Given the description of an element on the screen output the (x, y) to click on. 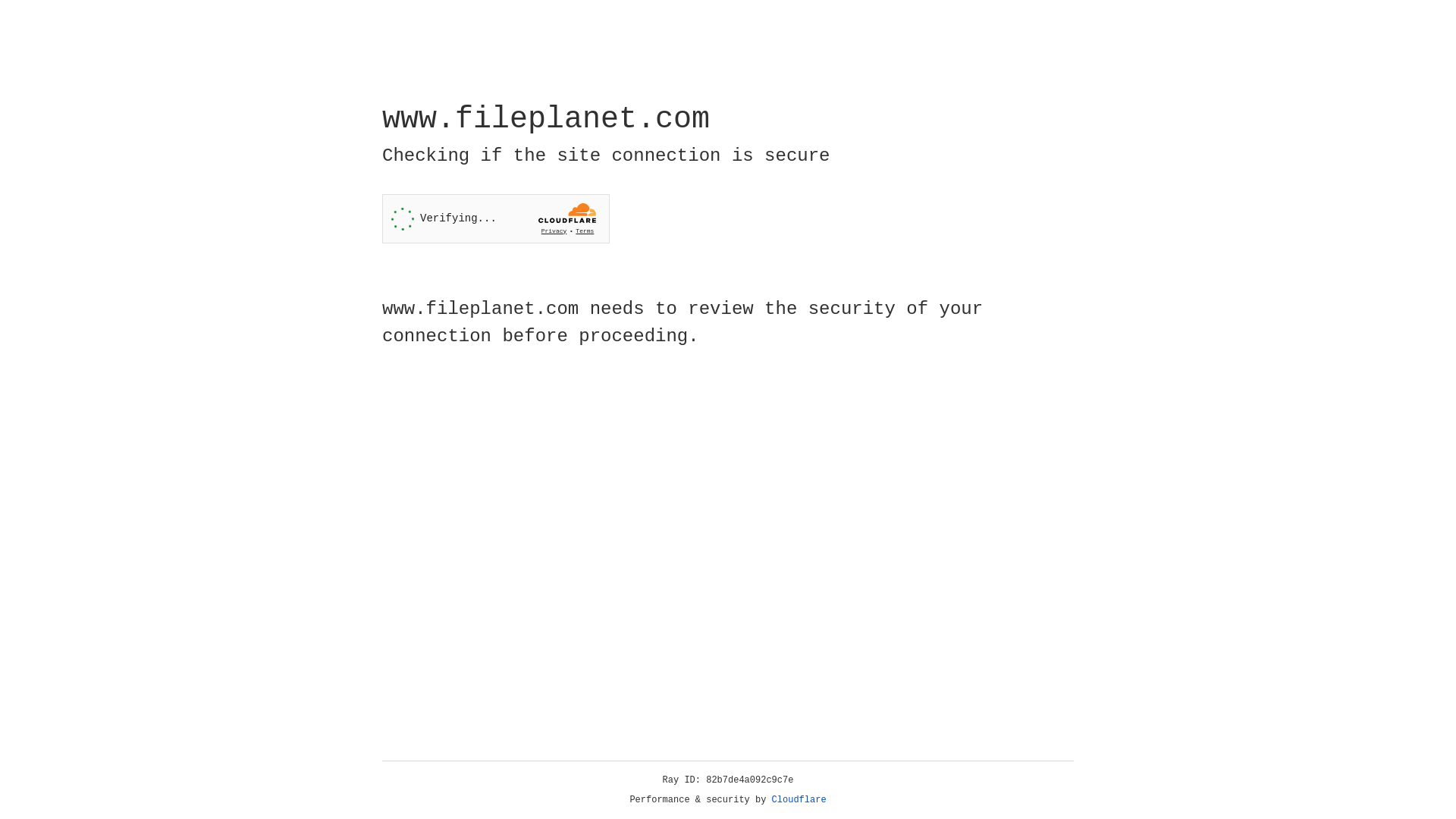
Widget containing a Cloudflare security challenge Element type: hover (495, 218)
Cloudflare Element type: text (798, 799)
